Given the description of an element on the screen output the (x, y) to click on. 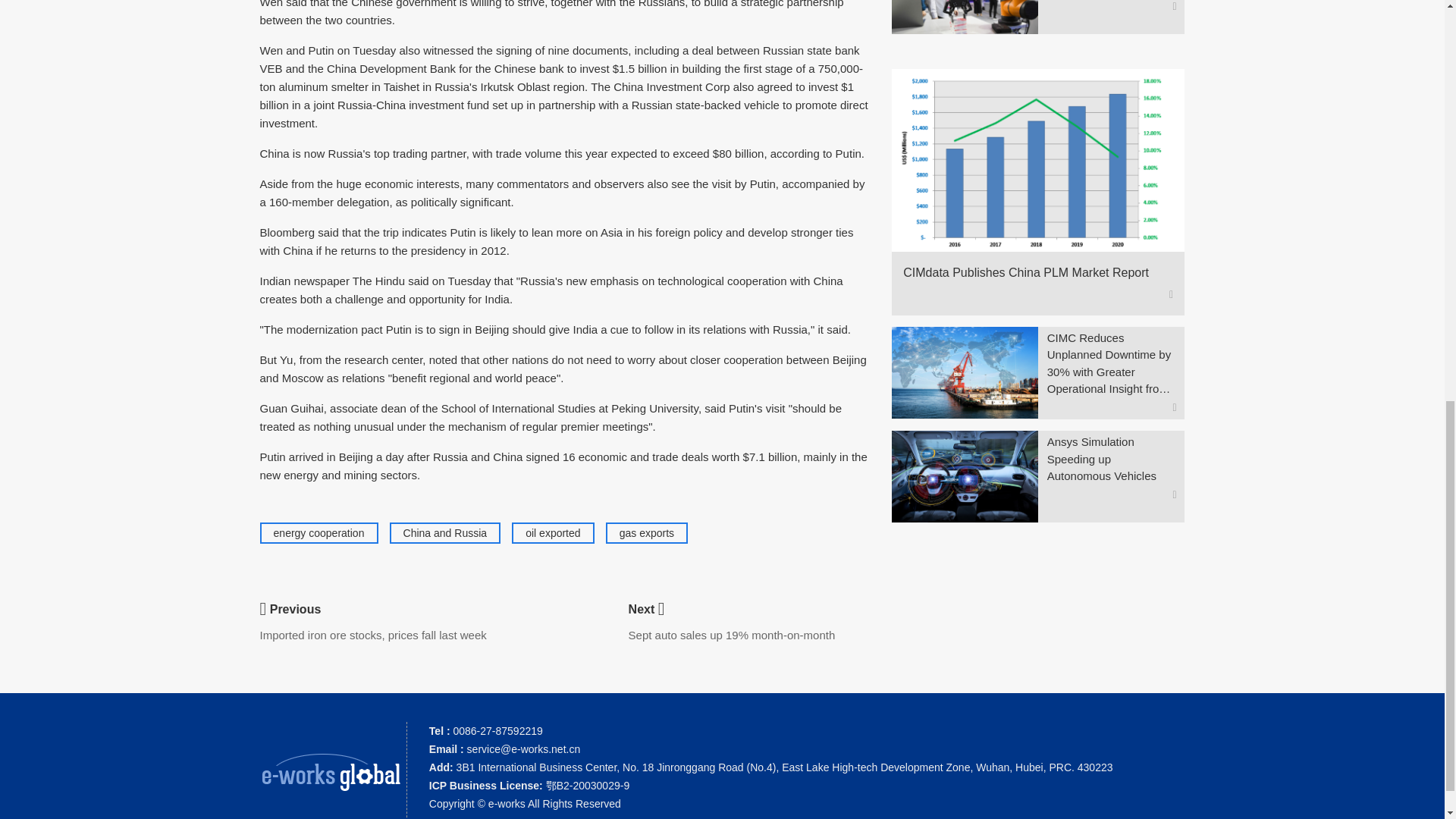
China and Russia (445, 532)
CIMdata Publishes China PLM Market Report (1030, 272)
oil exported (552, 532)
energy cooperation (319, 532)
Imported iron ore stocks, prices fall last week (372, 634)
gas exports (647, 532)
Ansys Simulation Speeding up Autonomous Vehicles (1111, 459)
